Given the description of an element on the screen output the (x, y) to click on. 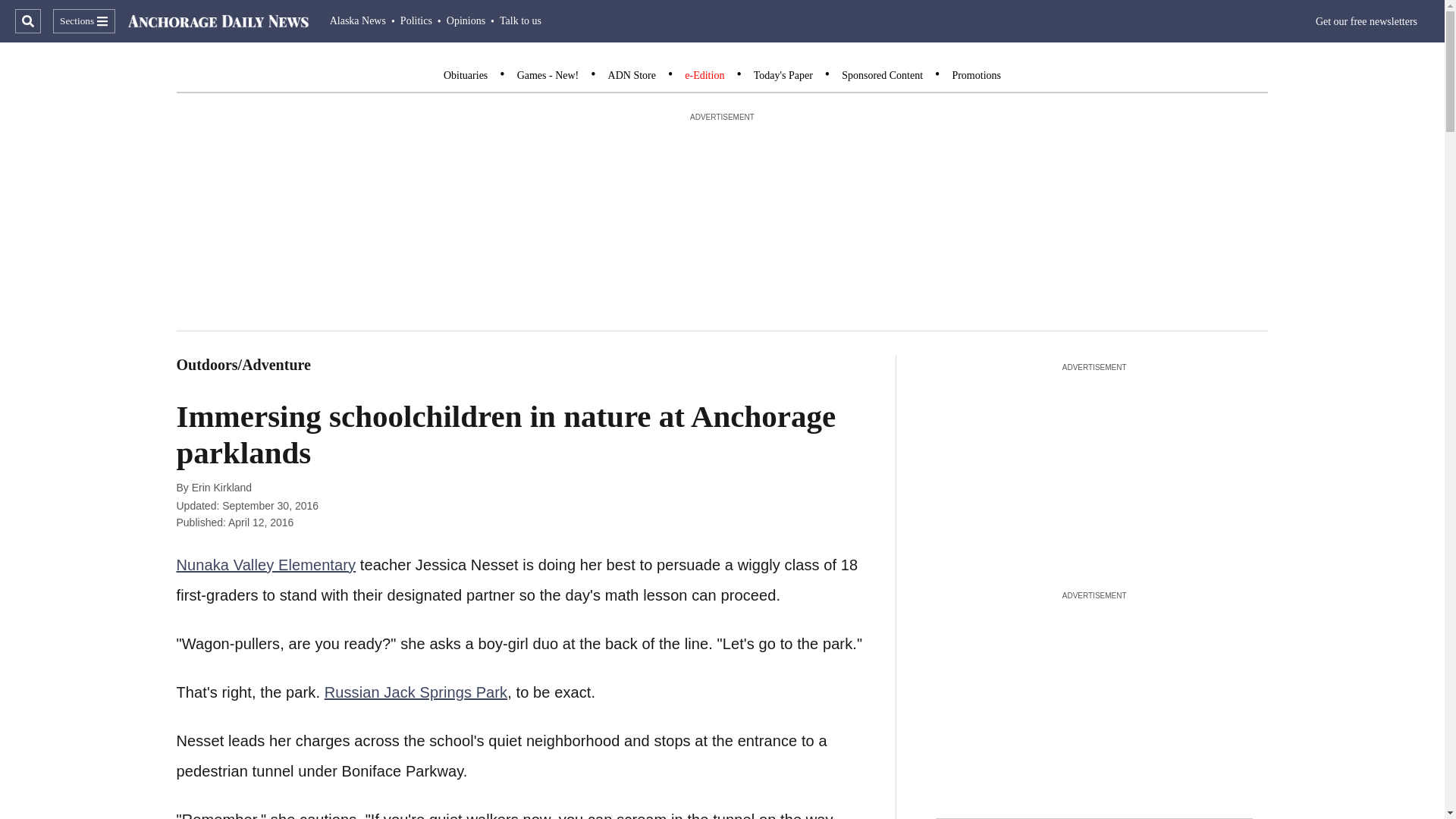
Alaska News (357, 20)
ADN Logo (218, 20)
Opinions (465, 20)
Sections (83, 21)
Politics (416, 20)
Get our free newsletters (1366, 21)
